Given the description of an element on the screen output the (x, y) to click on. 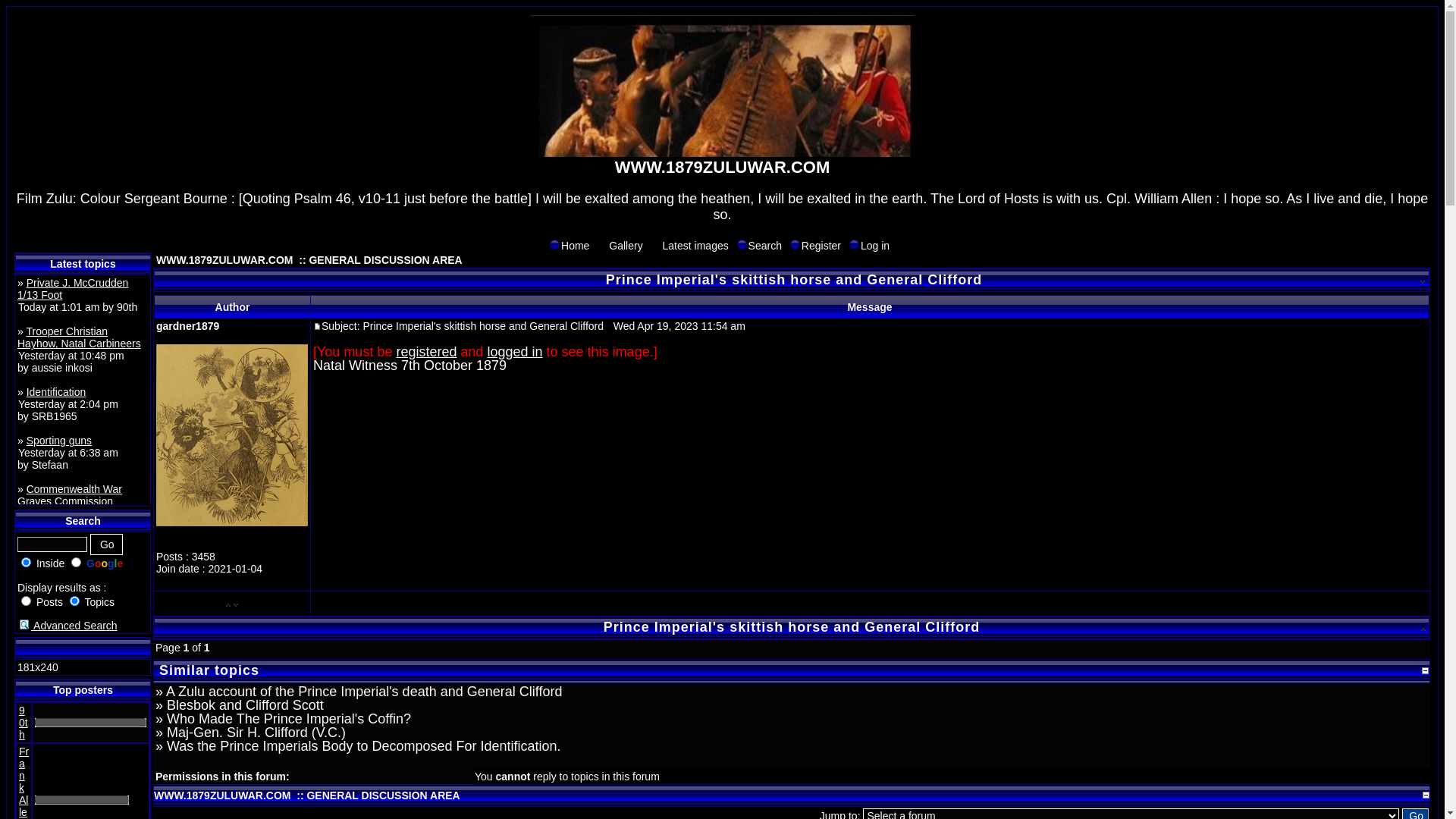
Sporting guns Element type: text (58, 440)
Latest images Element type: text (688, 245)
Register Element type: text (814, 245)
Latest images Element type: hover (656, 244)
Log in Element type: text (868, 245)
Go Element type: text (106, 544)
Home Element type: hover (554, 244)
Post Element type: hover (317, 326)
Search Element type: text (758, 245)
8573 Posts - 17% Element type: hover (90, 799)
10854 Posts - 22% Element type: hover (90, 722)
WWW.1879ZULUWAR.COM Element type: text (223, 795)
Private J. McCrudden 1/13 Foot Element type: text (72, 288)
90th Element type: text (23, 722)
Advanced Search Element type: text (67, 625)
Search Element type: hover (741, 244)
Gallery Element type: text (619, 245)
Log in Element type: hover (854, 244)
Identification Element type: text (56, 391)
WWW.1879ZULUWAR.COM Element type: text (225, 260)
10854 Posts - 22% Element type: hover (90, 722)
Commenwealth War Graves Commission Element type: text (69, 495)
Home Element type: text (568, 245)
Maj-Gen. Sir H. Clifford (V.C.) Element type: text (255, 732)
GENERAL DISCUSSION AREA Element type: text (382, 795)
logged in Element type: text (514, 351)
GENERAL DISCUSSION AREA Element type: text (384, 260)
Gallery Element type: hover (602, 244)
Register Element type: hover (795, 244)
registered Element type: text (425, 351)
Who Made The Prince Imperial's Coffin? Element type: text (288, 718)
Trooper Christian Hayhow, Natal Carbineers Element type: text (79, 337)
Blesbok and Clifford Scott Element type: text (244, 704)
